Given the description of an element on the screen output the (x, y) to click on. 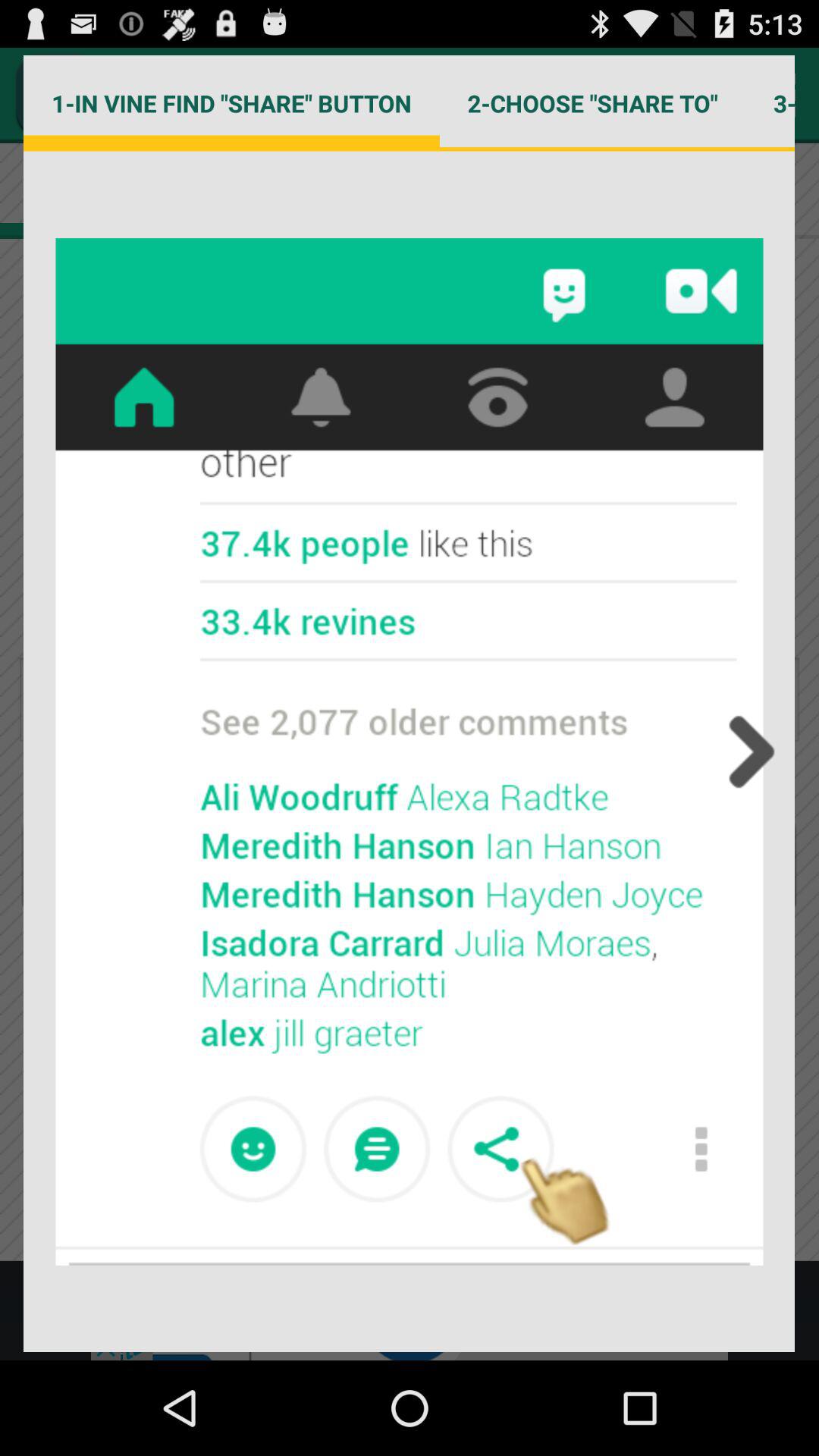
turn on the icon next to 2 choose share icon (770, 103)
